Given the description of an element on the screen output the (x, y) to click on. 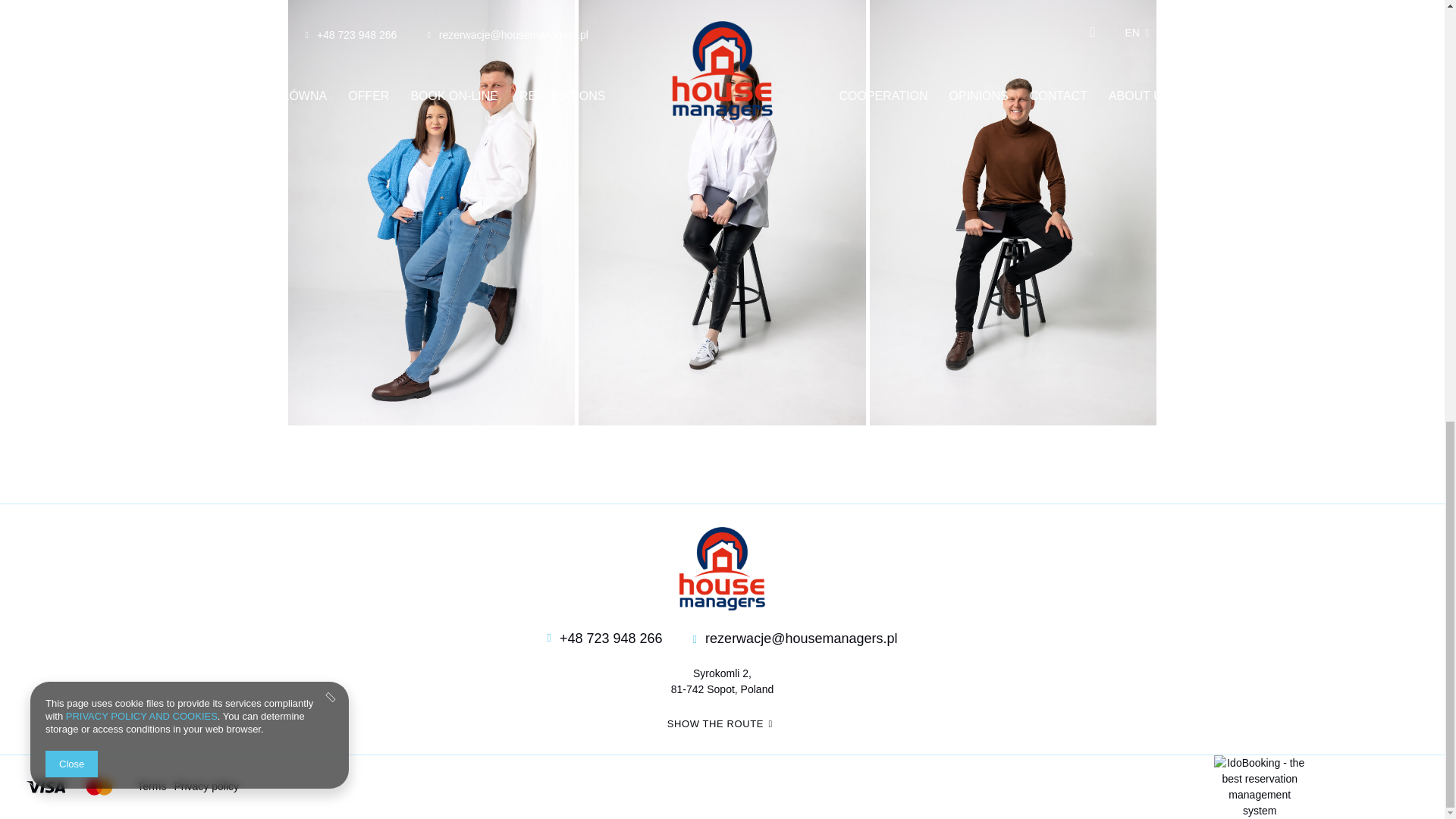
SHOW THE ROUTE (721, 723)
Terms (150, 786)
Privacy policy (205, 786)
Privacy policy (205, 786)
Terms (150, 786)
